Given the description of an element on the screen output the (x, y) to click on. 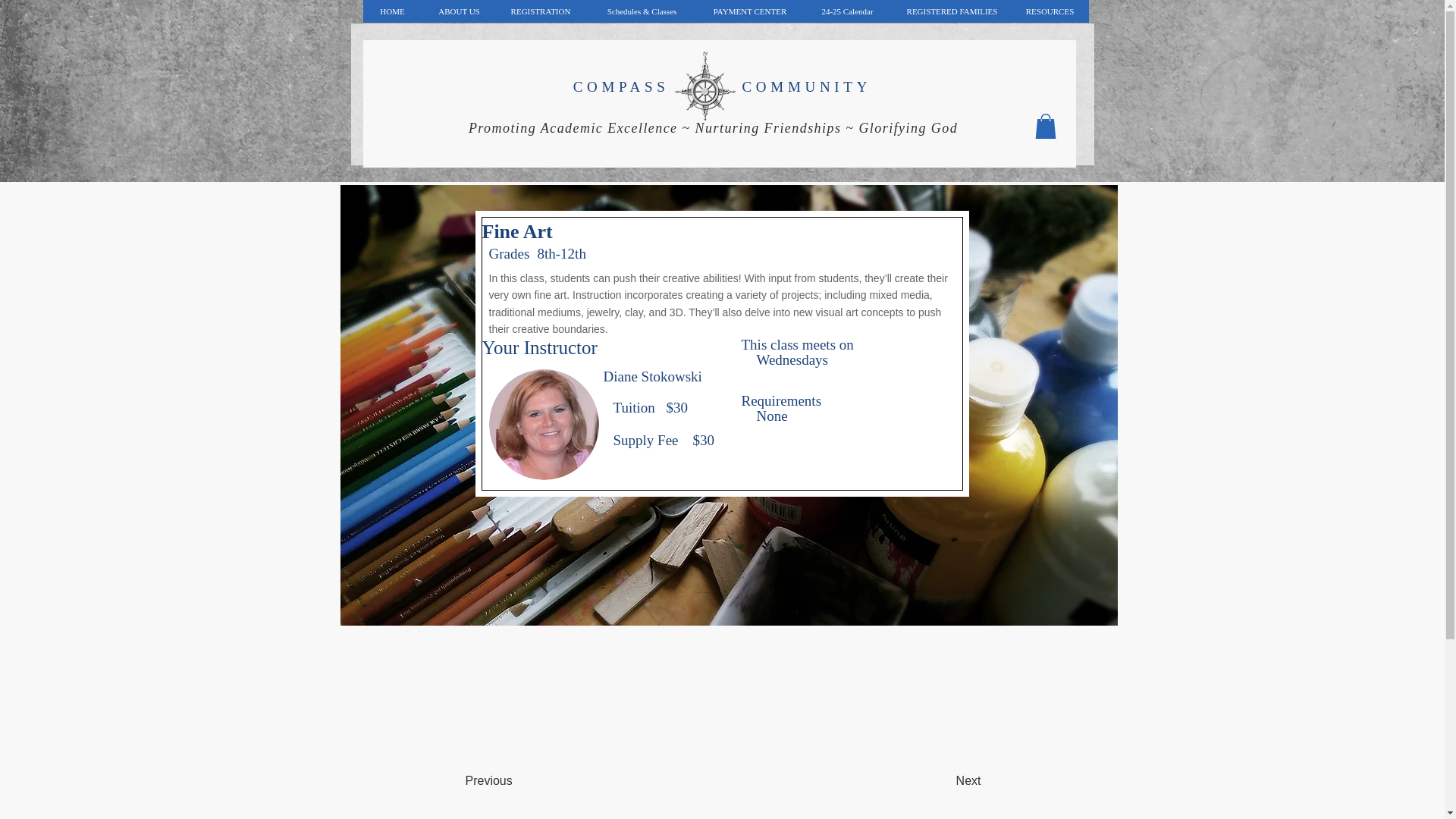
24-25 Calendar (846, 11)
HOME (392, 11)
RESOURCES (1048, 11)
REGISTRATION (540, 11)
Previous (515, 780)
ABOUT US (458, 11)
PAYMENT CENTER (748, 11)
Next (943, 780)
REGISTERED FAMILIES (951, 11)
